Given the description of an element on the screen output the (x, y) to click on. 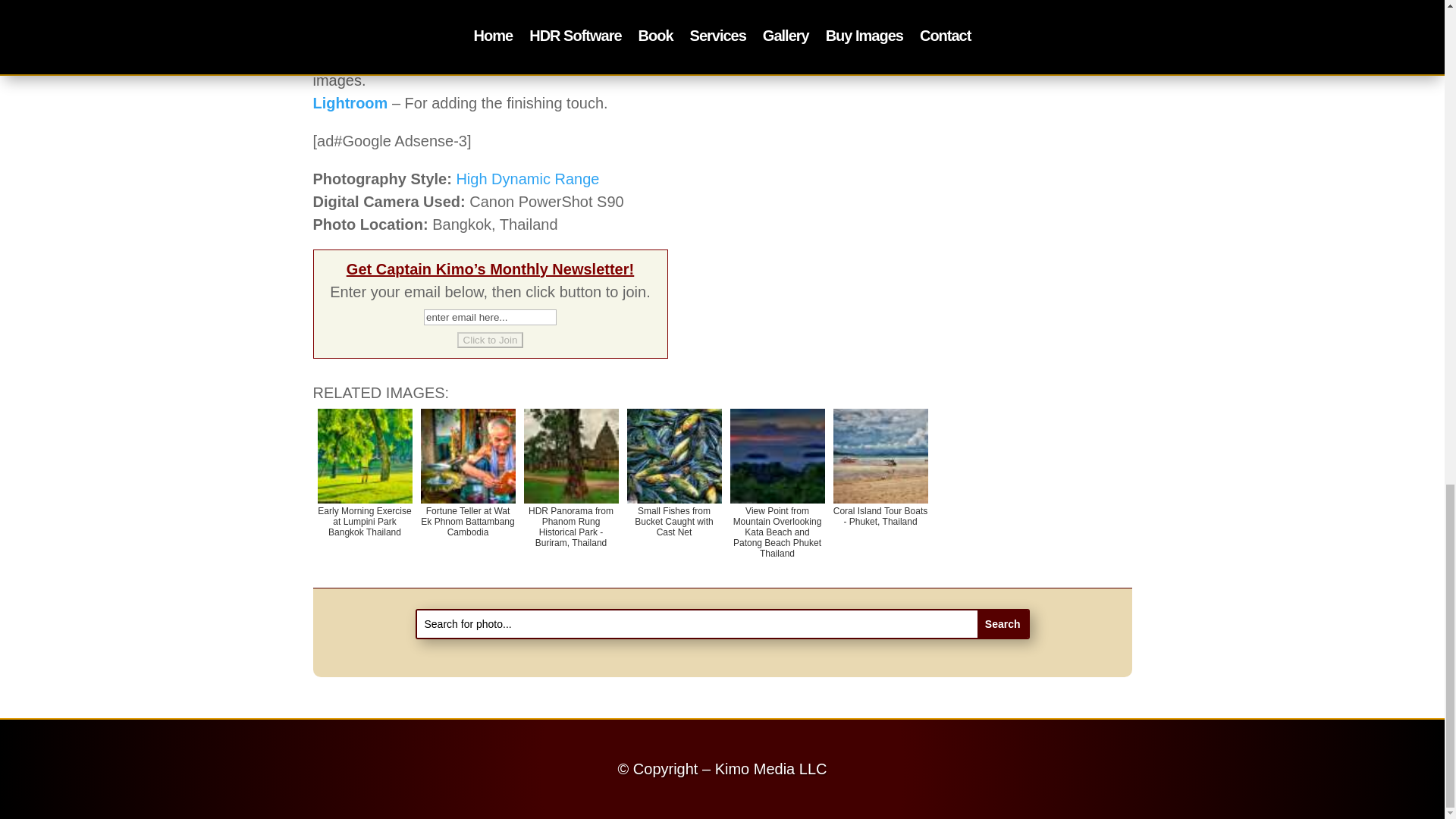
Search (1001, 624)
Lightroom (350, 103)
Click to Join (490, 340)
enter email here... (489, 317)
Search (1001, 624)
High Dynamic Range (526, 178)
PS Elements (358, 57)
Topaz Plugins (363, 34)
Search (1001, 624)
Click to Join (490, 340)
